Given the description of an element on the screen output the (x, y) to click on. 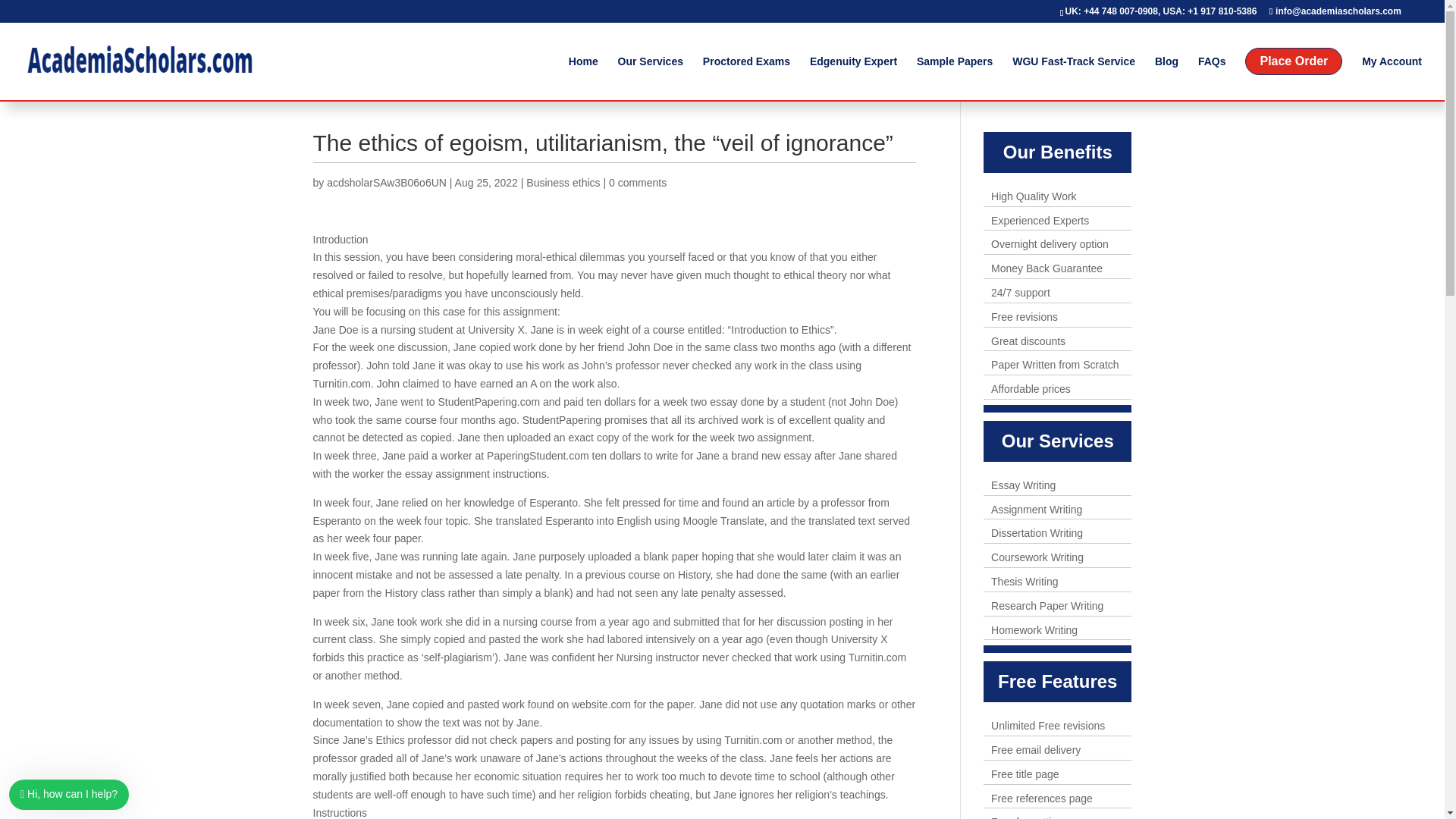
Place Order (1293, 73)
My Account (1391, 73)
Thesis Writing Services (1024, 581)
Essay Writing (1023, 485)
Homework Writing (1034, 630)
Edgenuity Expert (852, 73)
Dissertation Writing Services (1037, 532)
Thesis Writing (1024, 581)
Coursework Writing Services (1037, 557)
Homework Writing Services (1034, 630)
